Given the description of an element on the screen output the (x, y) to click on. 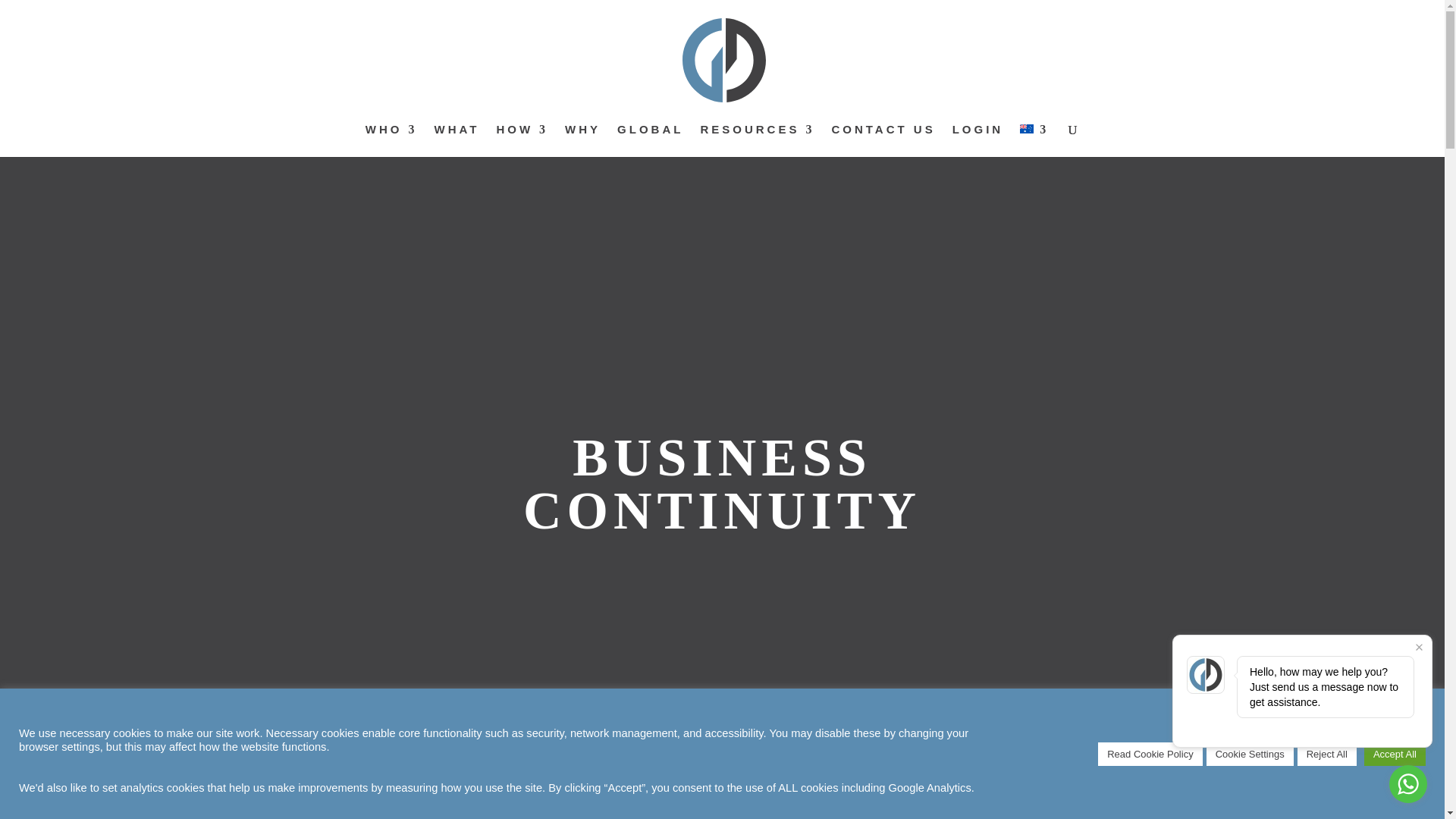
WHY (581, 140)
CONTACT US (882, 140)
HOW (522, 140)
LOGIN (978, 140)
GLOBAL (649, 140)
RESOURCES (756, 140)
WHO (391, 140)
WHAT (456, 140)
